Given the description of an element on the screen output the (x, y) to click on. 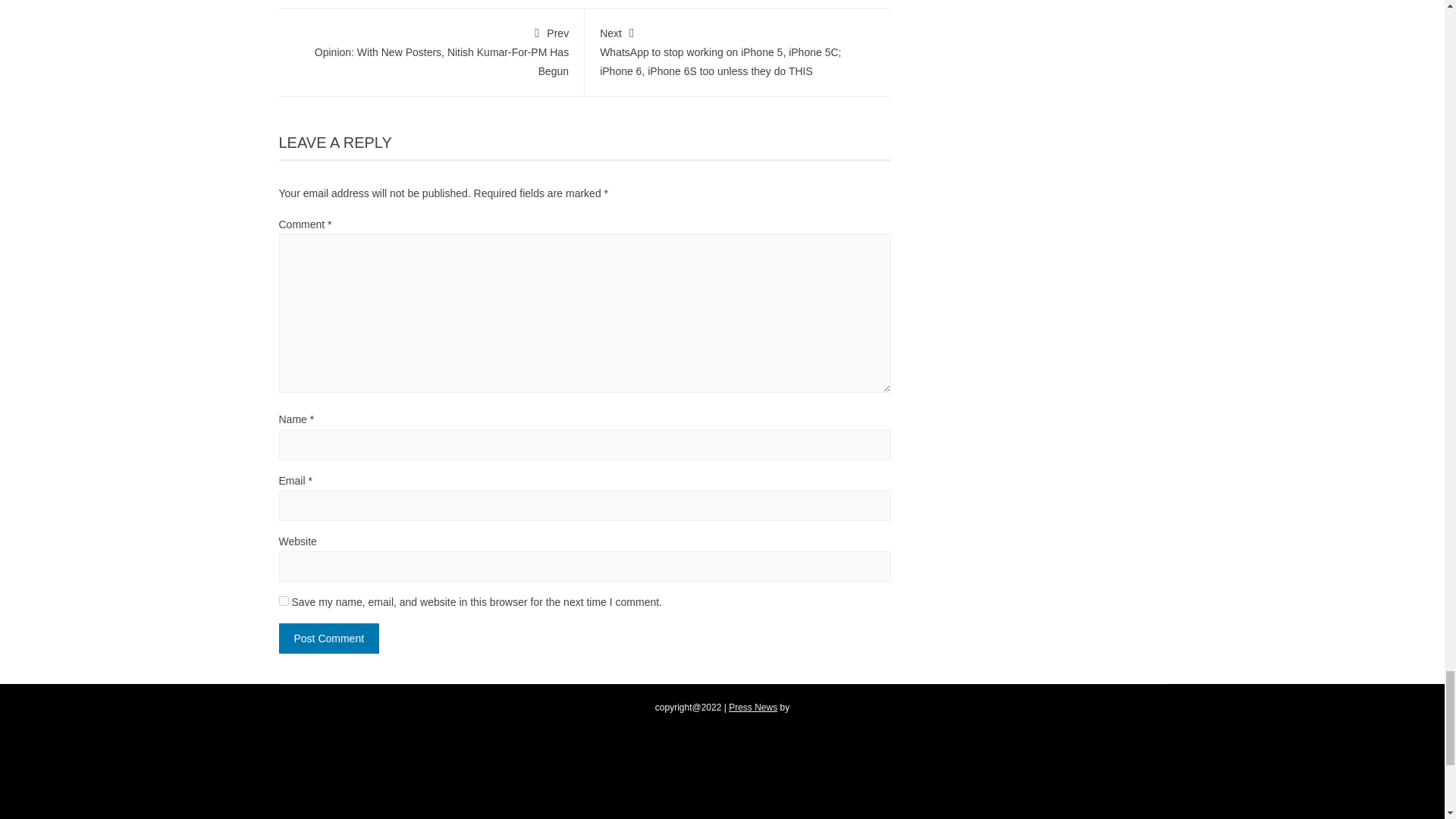
Post Comment (329, 638)
Download Press News (753, 706)
Post Comment (329, 638)
yes (283, 601)
